Given the description of an element on the screen output the (x, y) to click on. 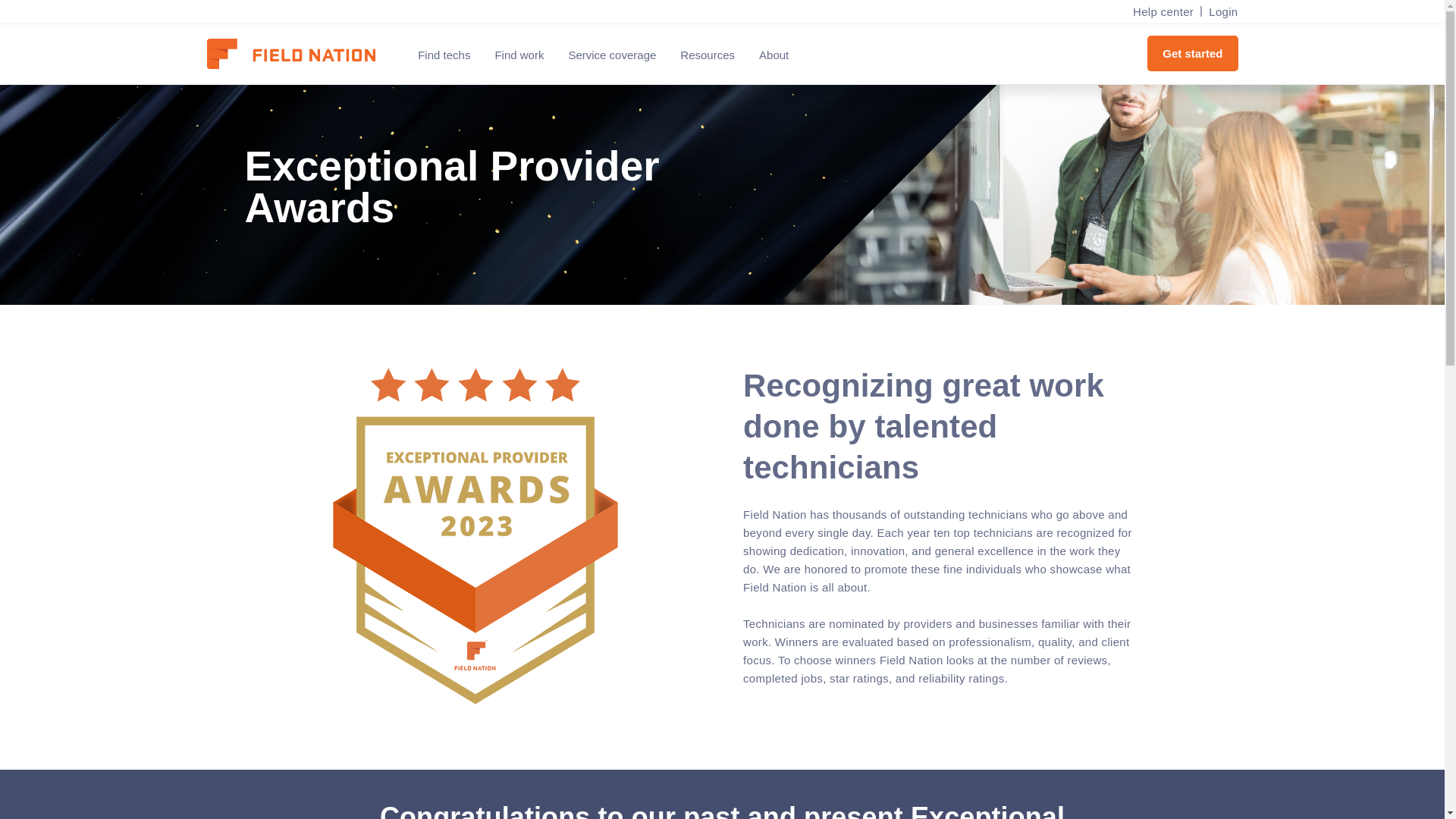
Resources (707, 54)
Help center (1162, 11)
Find work (518, 54)
Service coverage (612, 54)
Find techs (443, 54)
Field Nation Homepage (298, 54)
Login (1219, 11)
Login (1219, 11)
Help center (1162, 11)
